Given the description of an element on the screen output the (x, y) to click on. 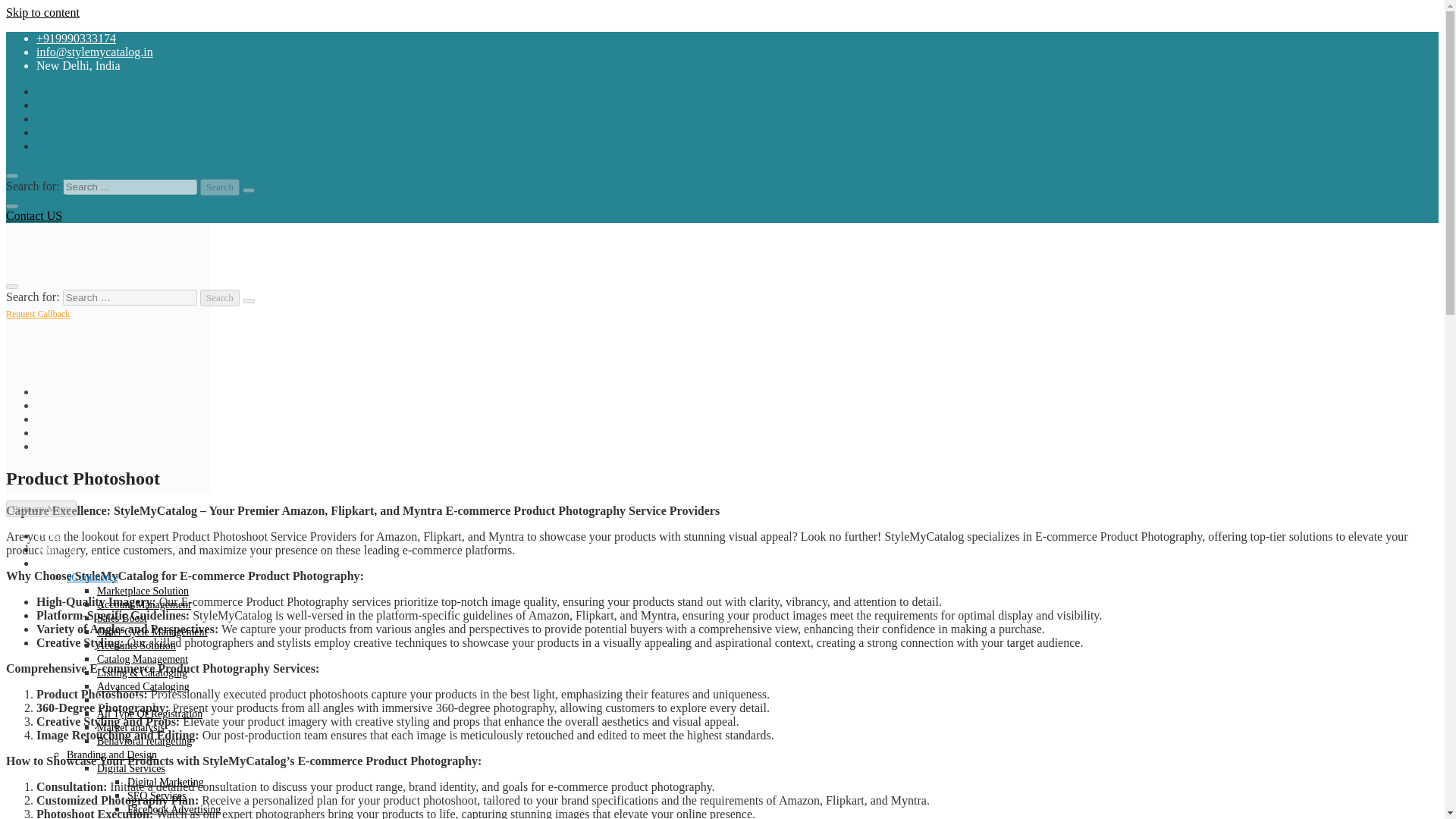
About Us (56, 550)
Market analysis (130, 727)
Amazon Sponsor Ads (173, 818)
Account Management (143, 604)
Primary Menu (41, 508)
Search (220, 297)
Digital Marketing (165, 781)
SEO Services (157, 795)
Search (220, 187)
Advanced Cataloging (143, 686)
